Given the description of an element on the screen output the (x, y) to click on. 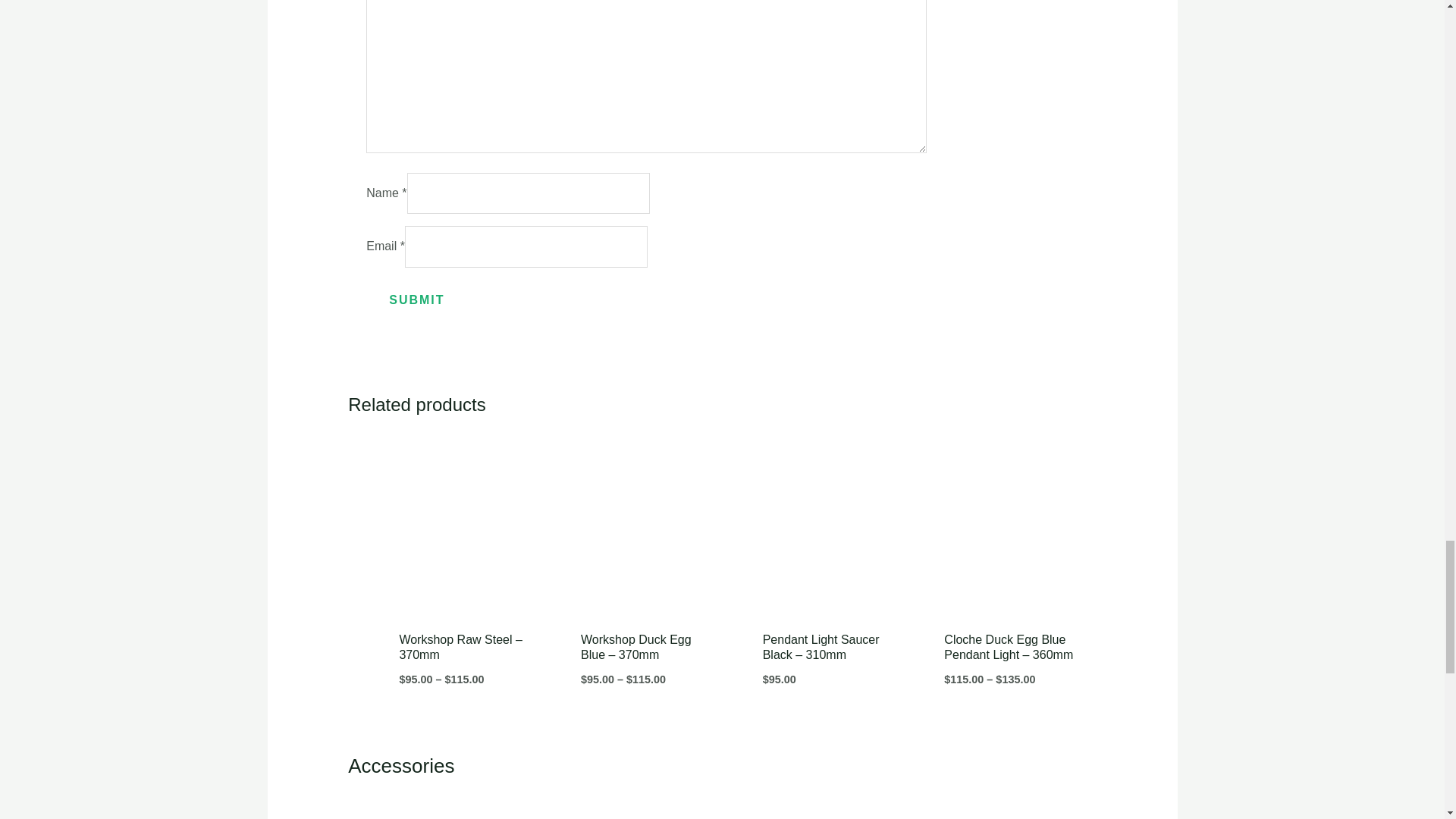
Submit (416, 300)
